Given the description of an element on the screen output the (x, y) to click on. 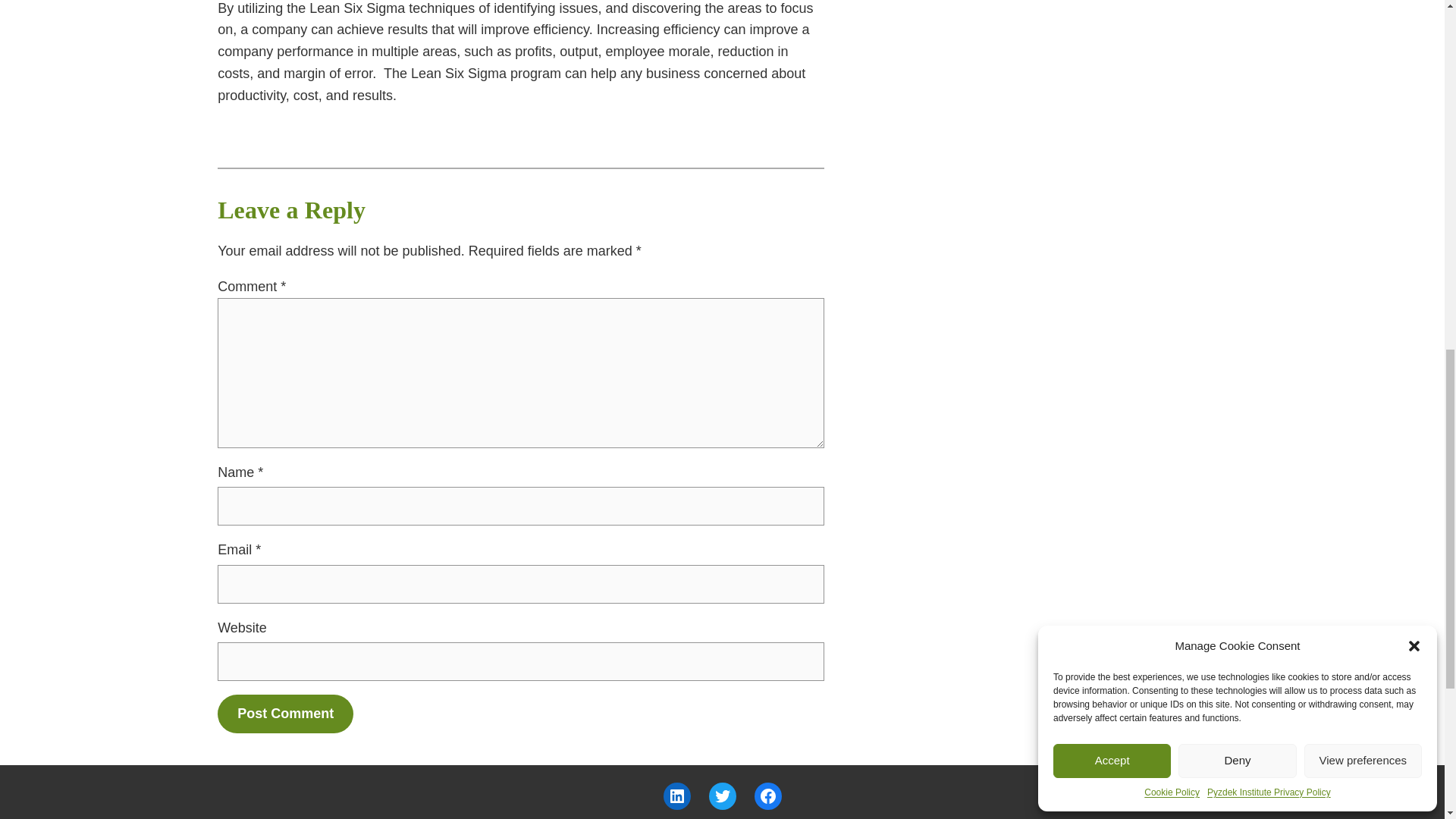
Post Comment (284, 713)
Post Comment (284, 713)
